Given the description of an element on the screen output the (x, y) to click on. 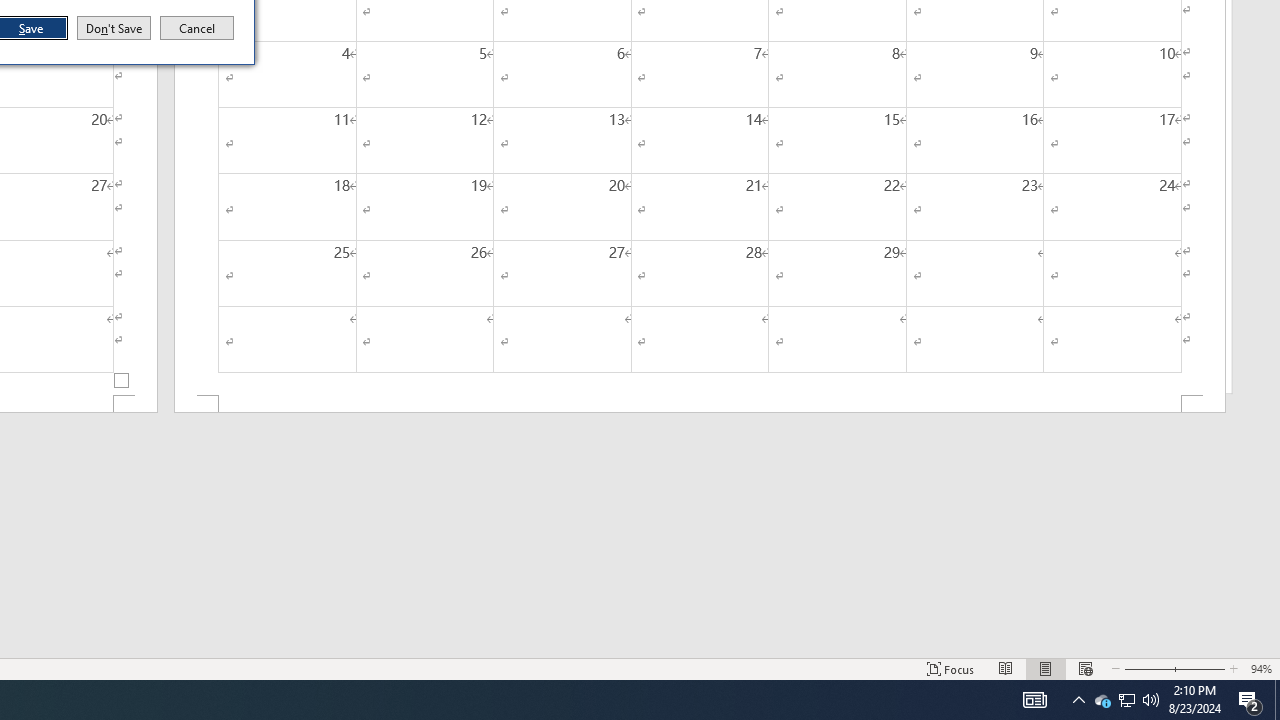
Footer -Section 2- (700, 404)
